Given the description of an element on the screen output the (x, y) to click on. 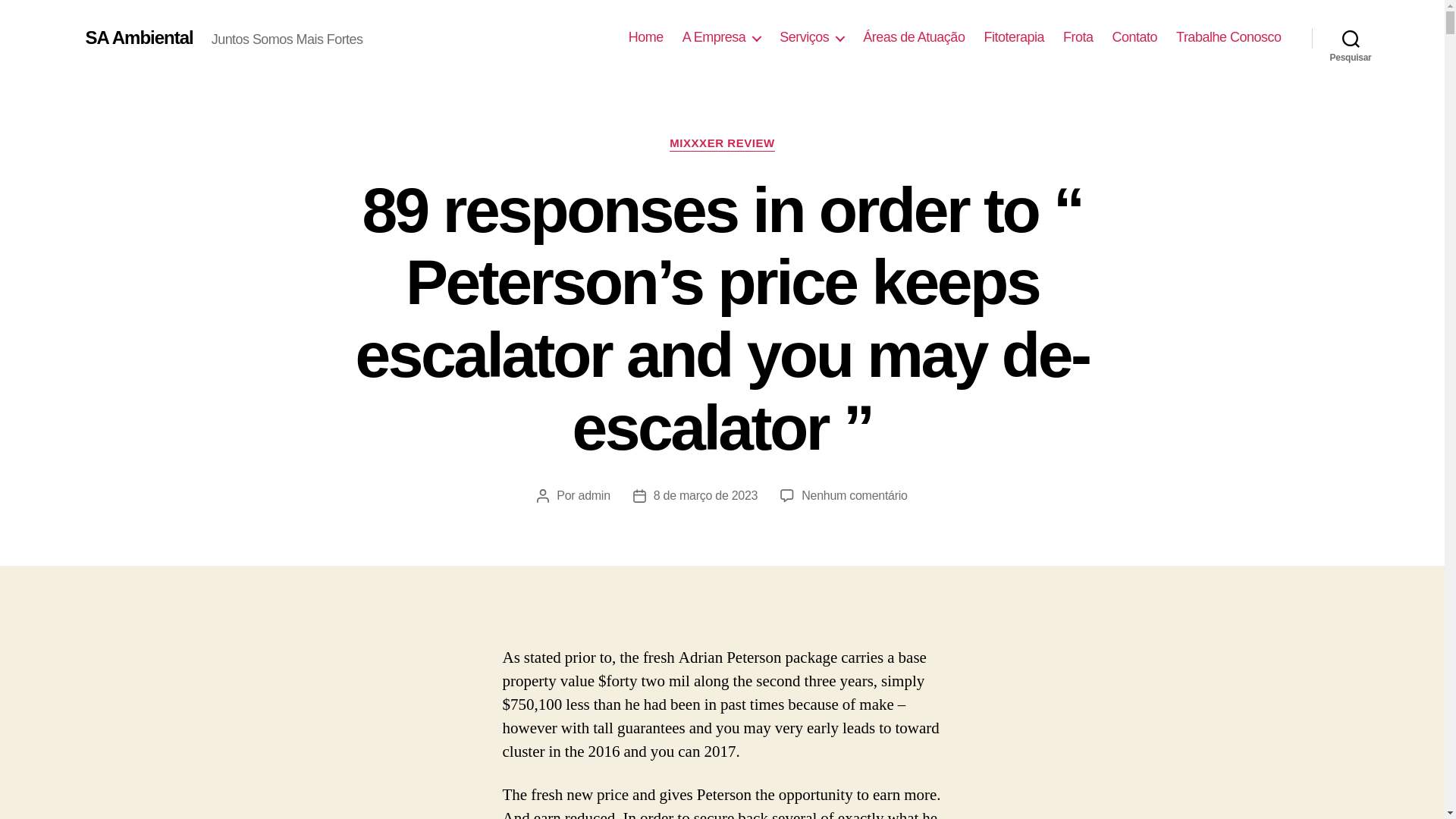
A Empresa (721, 37)
Contato (1134, 37)
Pesquisar (1350, 37)
Home (645, 37)
Frota (1077, 37)
Fitoterapia (1013, 37)
SA Ambiental (138, 37)
Trabalhe Conosco (1228, 37)
